Given the description of an element on the screen output the (x, y) to click on. 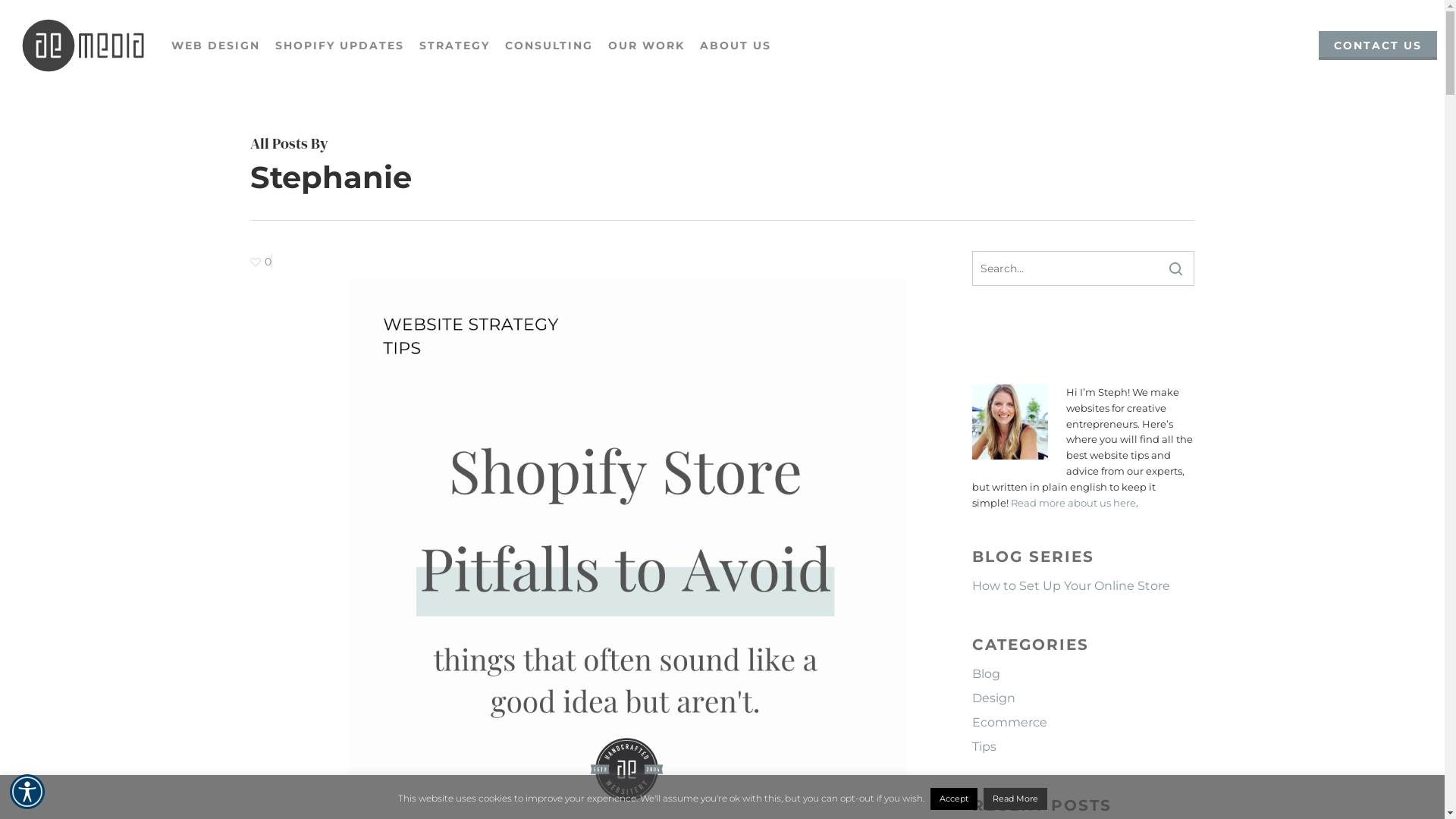
CONSULTING Element type: text (548, 45)
OUR WORK Element type: text (646, 45)
Search for: Element type: hover (1083, 268)
Tips Element type: text (1083, 746)
WEB DESIGN Element type: text (215, 45)
Ecommerce Element type: text (1083, 722)
Read more about us here Element type: text (1072, 502)
Blog Element type: text (1083, 674)
Accept Element type: text (952, 798)
CONTACT US Element type: text (1377, 45)
ABOUT US Element type: text (735, 45)
0 Element type: text (260, 261)
STRATEGY Element type: text (454, 45)
Design Element type: text (1083, 698)
SHOPIFY UPDATES Element type: text (339, 45)
Read More Element type: text (1014, 798)
How to Set Up Your Online Store Element type: text (1083, 586)
